Given the description of an element on the screen output the (x, y) to click on. 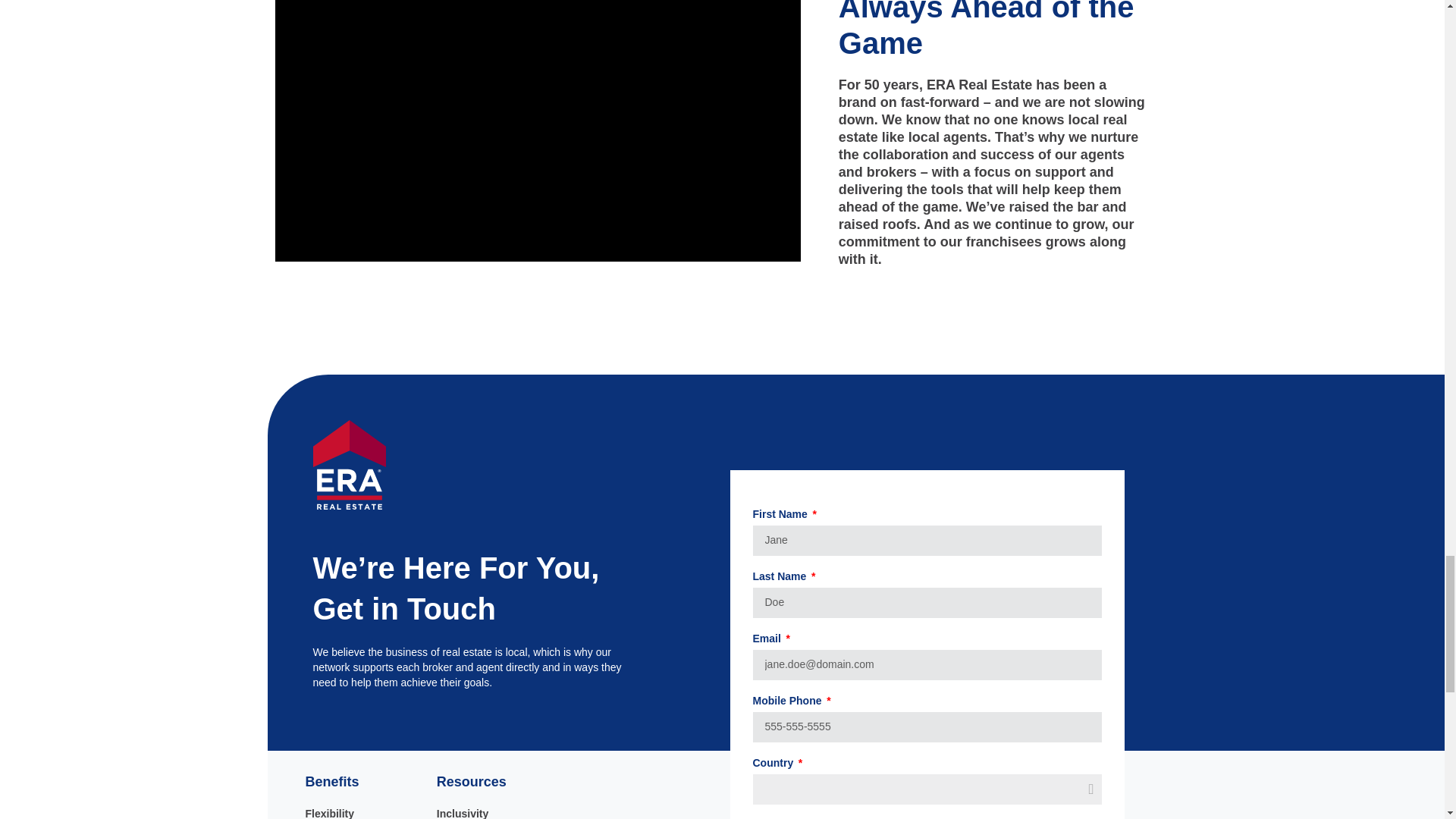
Flexibility (362, 812)
Inclusivity (494, 812)
